Given the description of an element on the screen output the (x, y) to click on. 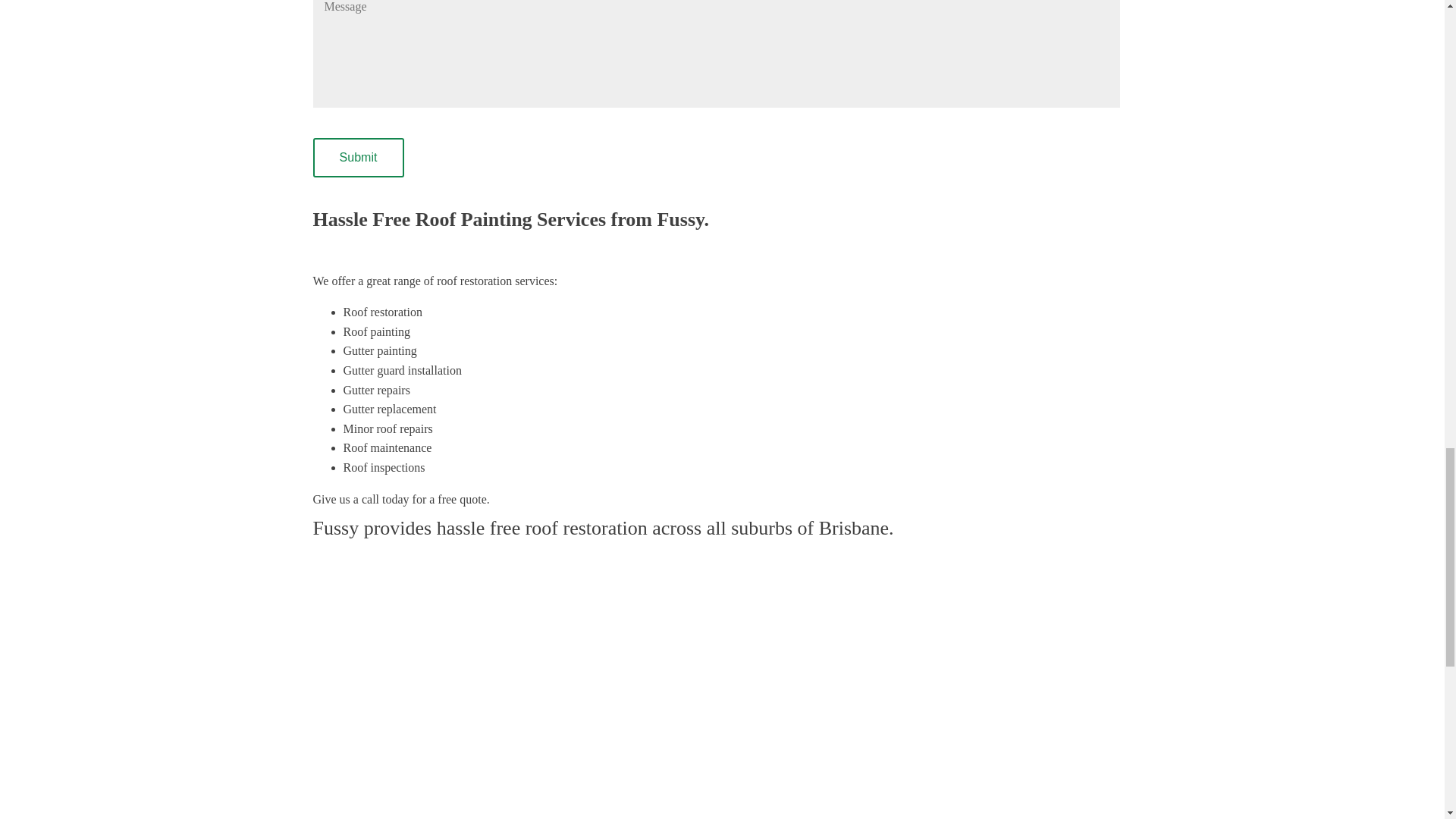
Submit (358, 157)
Submit (358, 157)
